Given the description of an element on the screen output the (x, y) to click on. 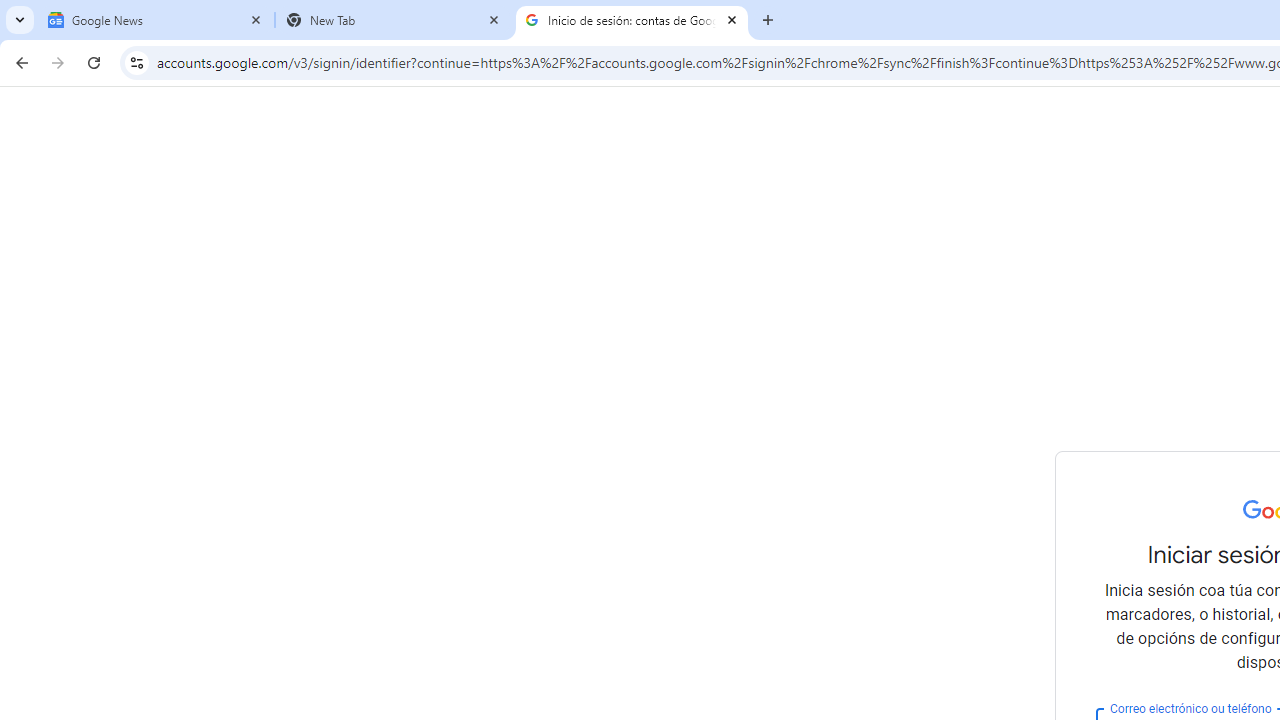
New Tab (394, 20)
Google News (156, 20)
